Given the description of an element on the screen output the (x, y) to click on. 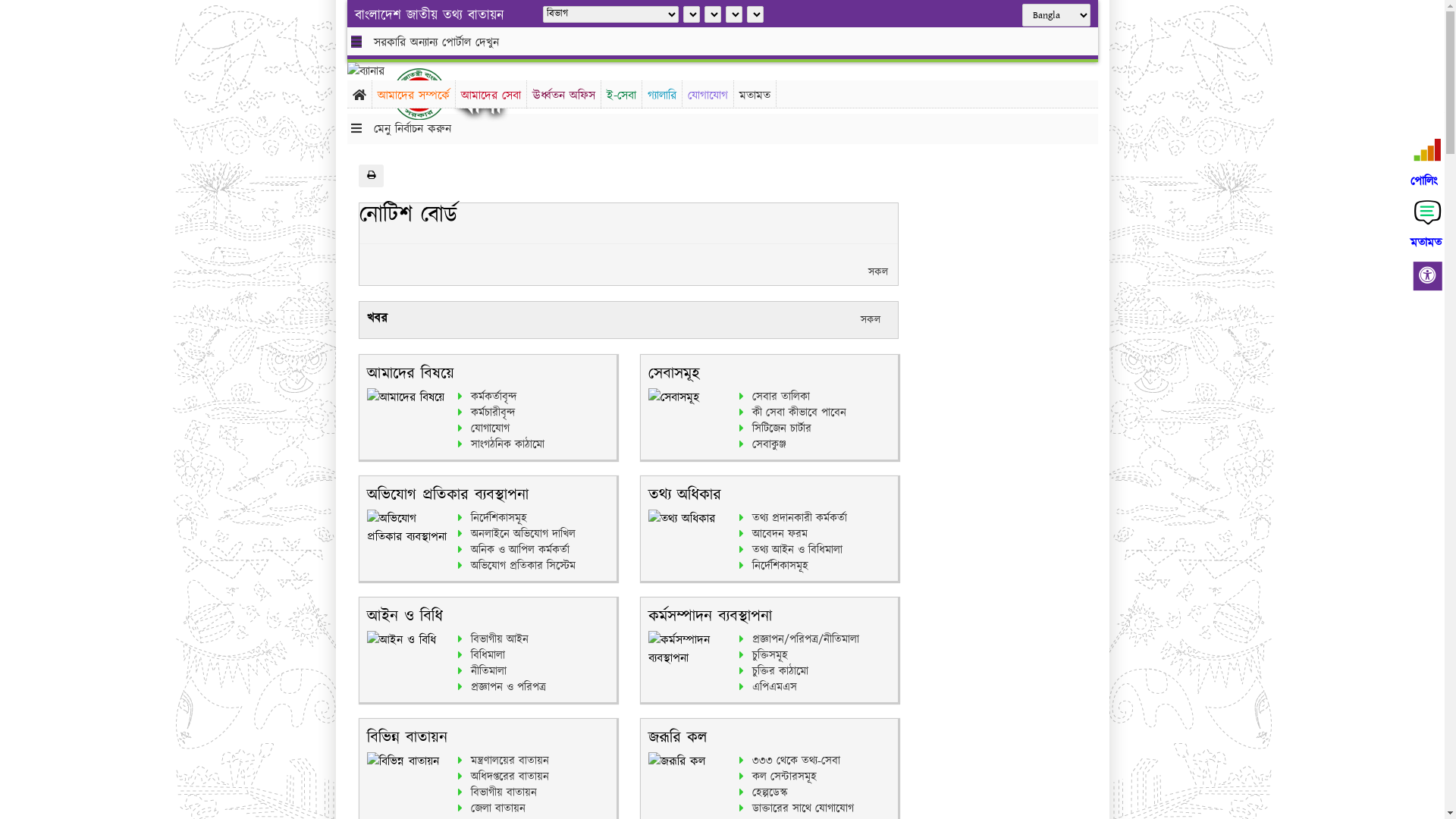

                
             Element type: hover (430, 93)
